Given the description of an element on the screen output the (x, y) to click on. 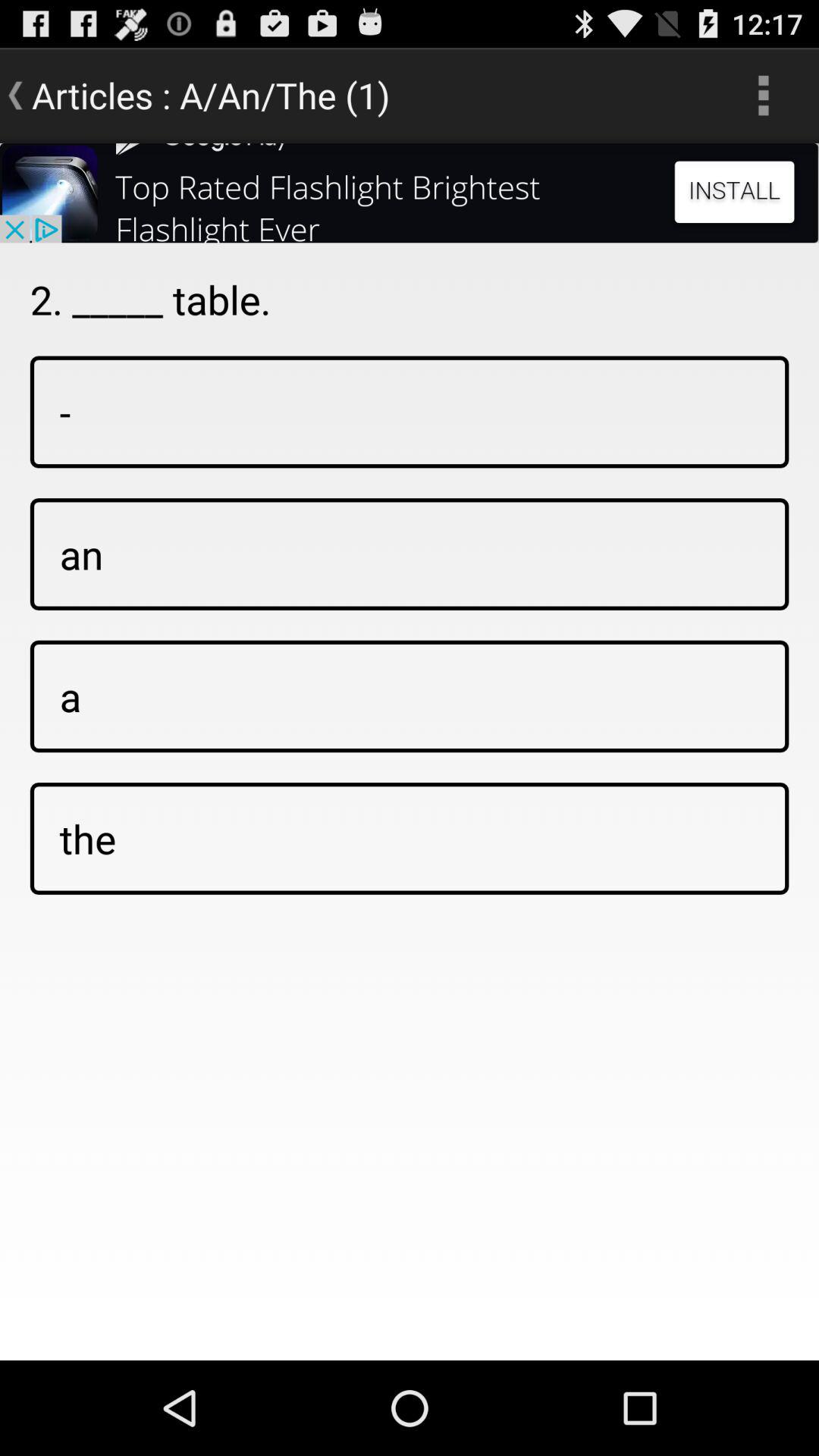
go to advertisement (409, 192)
